Given the description of an element on the screen output the (x, y) to click on. 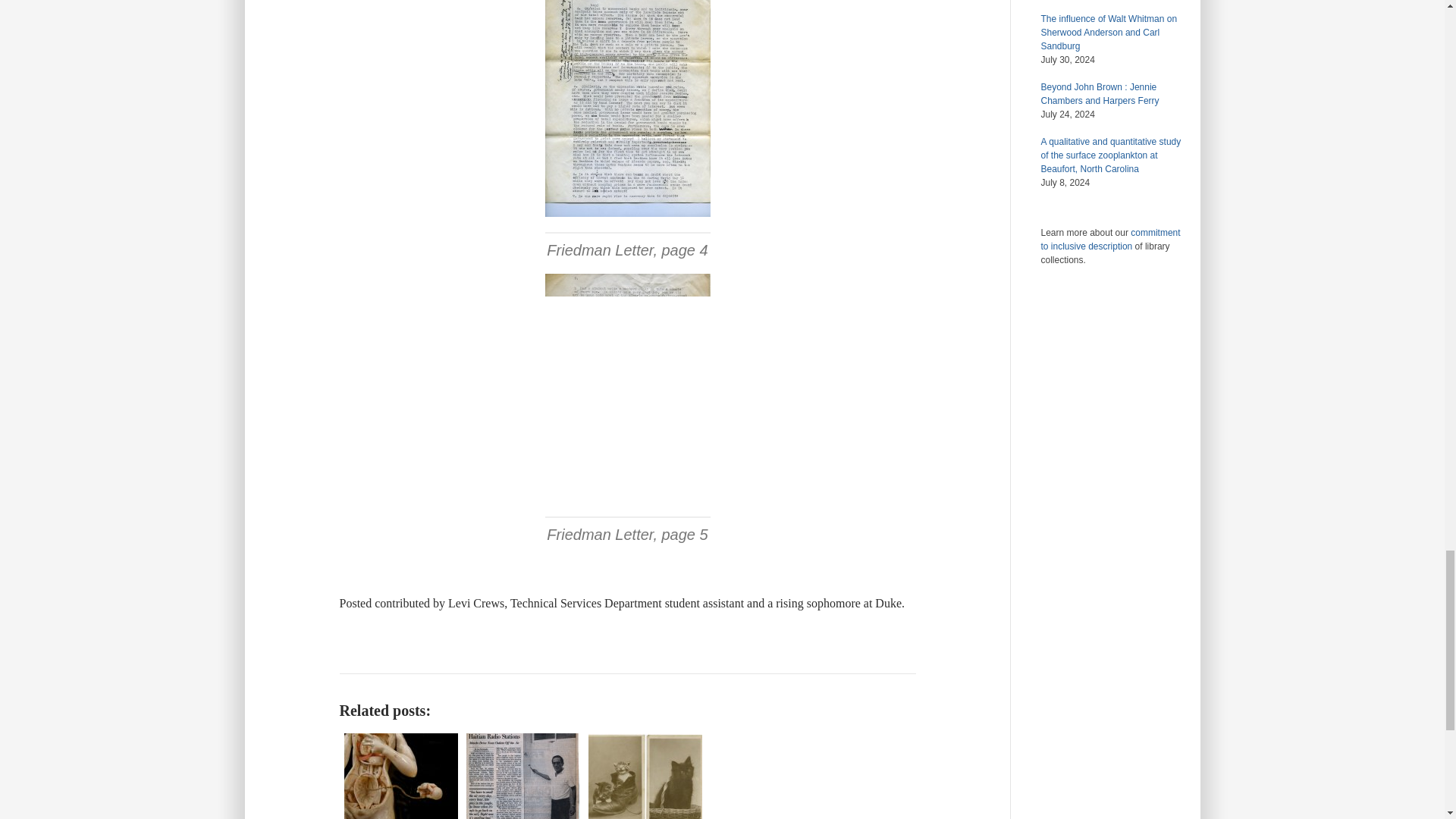
Lecture: The History and Legacy of Ivory Anatomical Manikins (401, 773)
An Investigation into Rubenstein LOLcats (644, 773)
The Noise in the Silence: Radio Haiti During the Coup Years (522, 773)
